Given the description of an element on the screen output the (x, y) to click on. 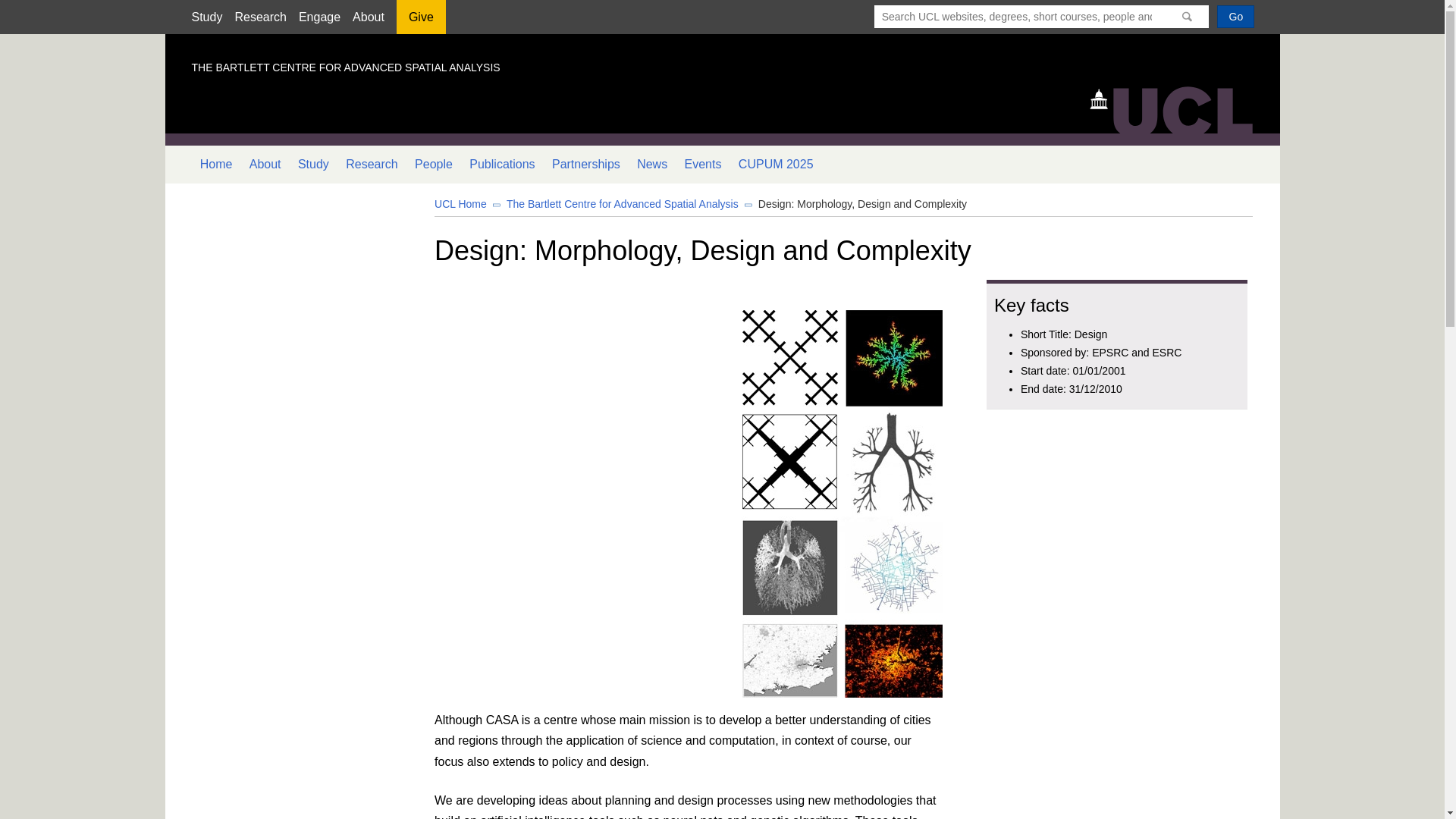
Go (1235, 15)
People (433, 164)
Study (206, 16)
Give (420, 22)
Home (215, 164)
Design: Morphology, Design and Complexity (862, 203)
Go (1235, 15)
News (651, 164)
Home (1178, 108)
About (368, 16)
